Given the description of an element on the screen output the (x, y) to click on. 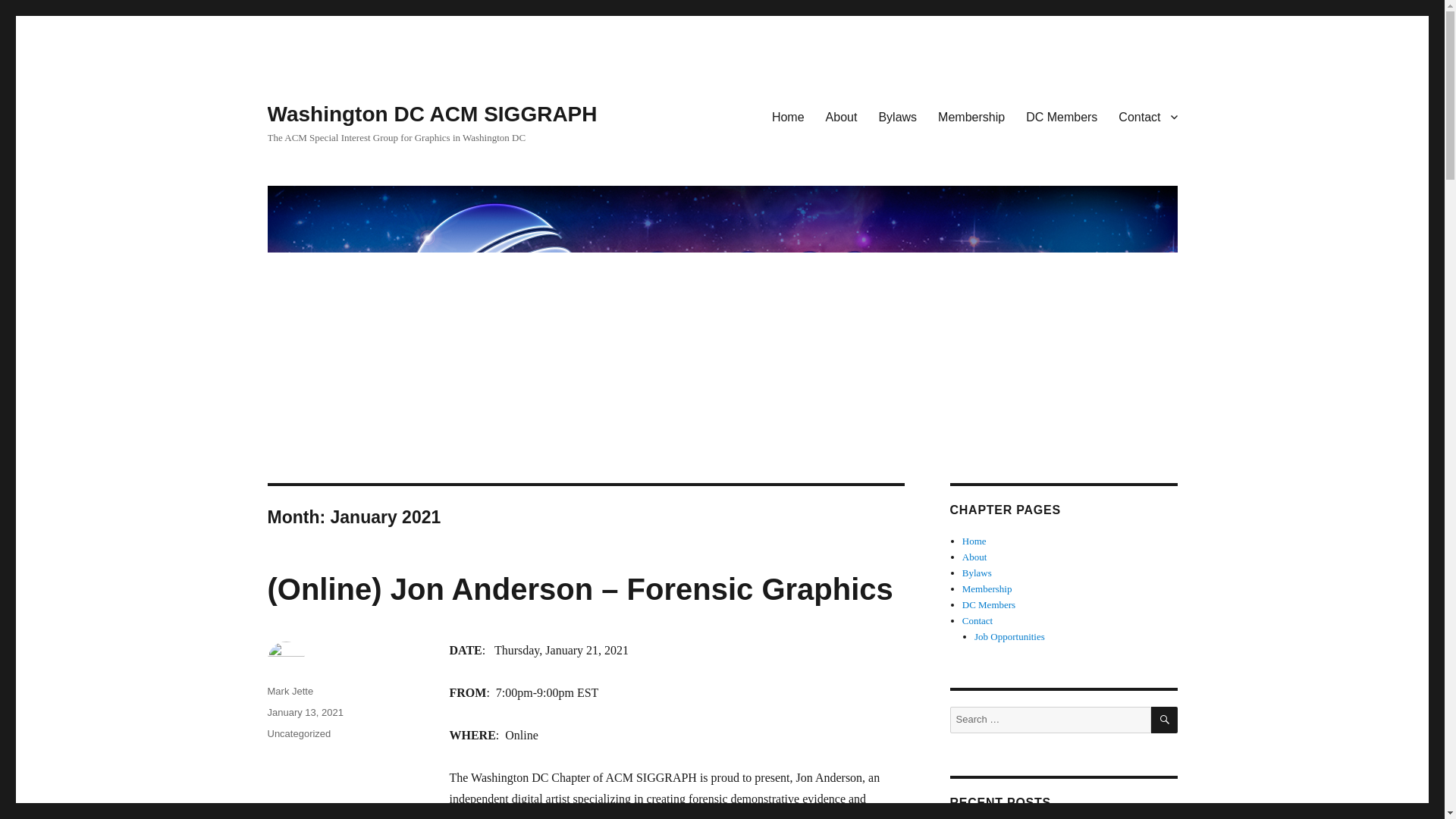
Home (788, 116)
SEARCH (1164, 719)
Bylaws (897, 116)
DC Members (1061, 116)
Uncategorized (298, 733)
Job Opportunities (1009, 636)
About (974, 556)
Mark Jette (289, 690)
Contact (977, 620)
Membership (970, 116)
January 13, 2021 (304, 712)
Contact (1148, 116)
About (841, 116)
Bylaws (976, 572)
Washington DC ACM SIGGRAPH (431, 114)
